Given the description of an element on the screen output the (x, y) to click on. 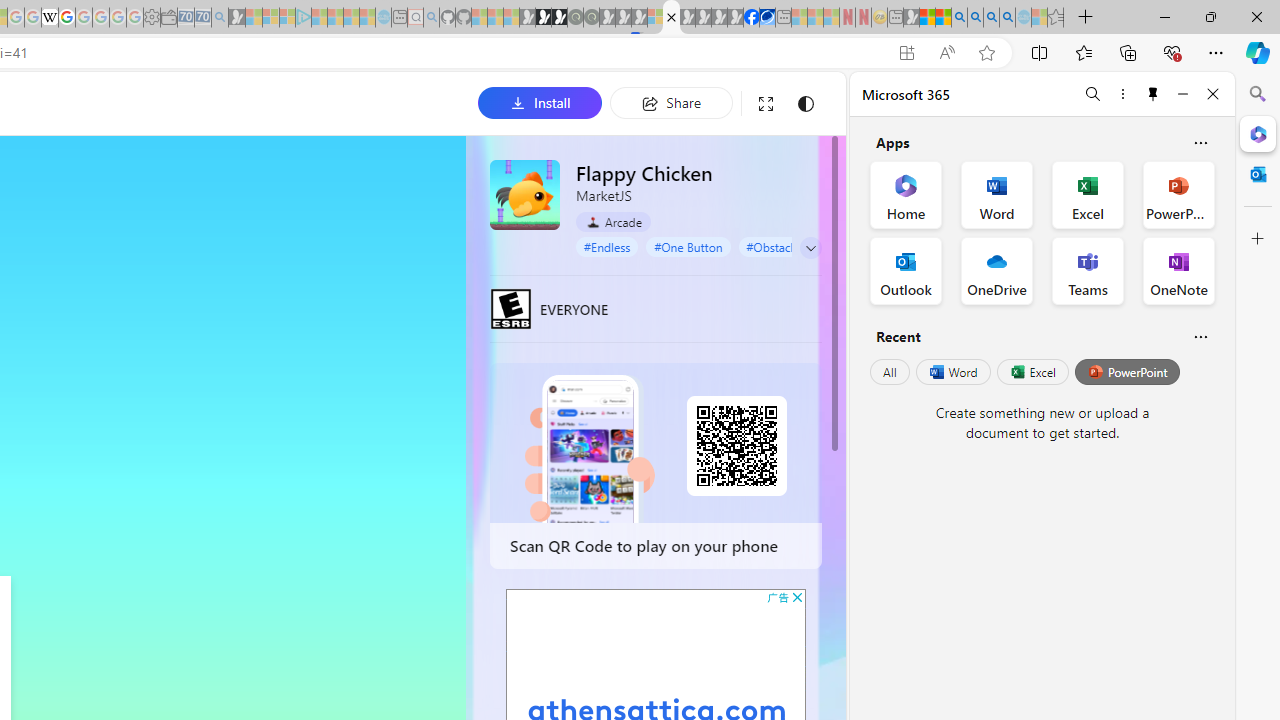
Favorites - Sleeping (1055, 17)
App available. Install Flappy Chicken (906, 53)
All (890, 372)
